Given the description of an element on the screen output the (x, y) to click on. 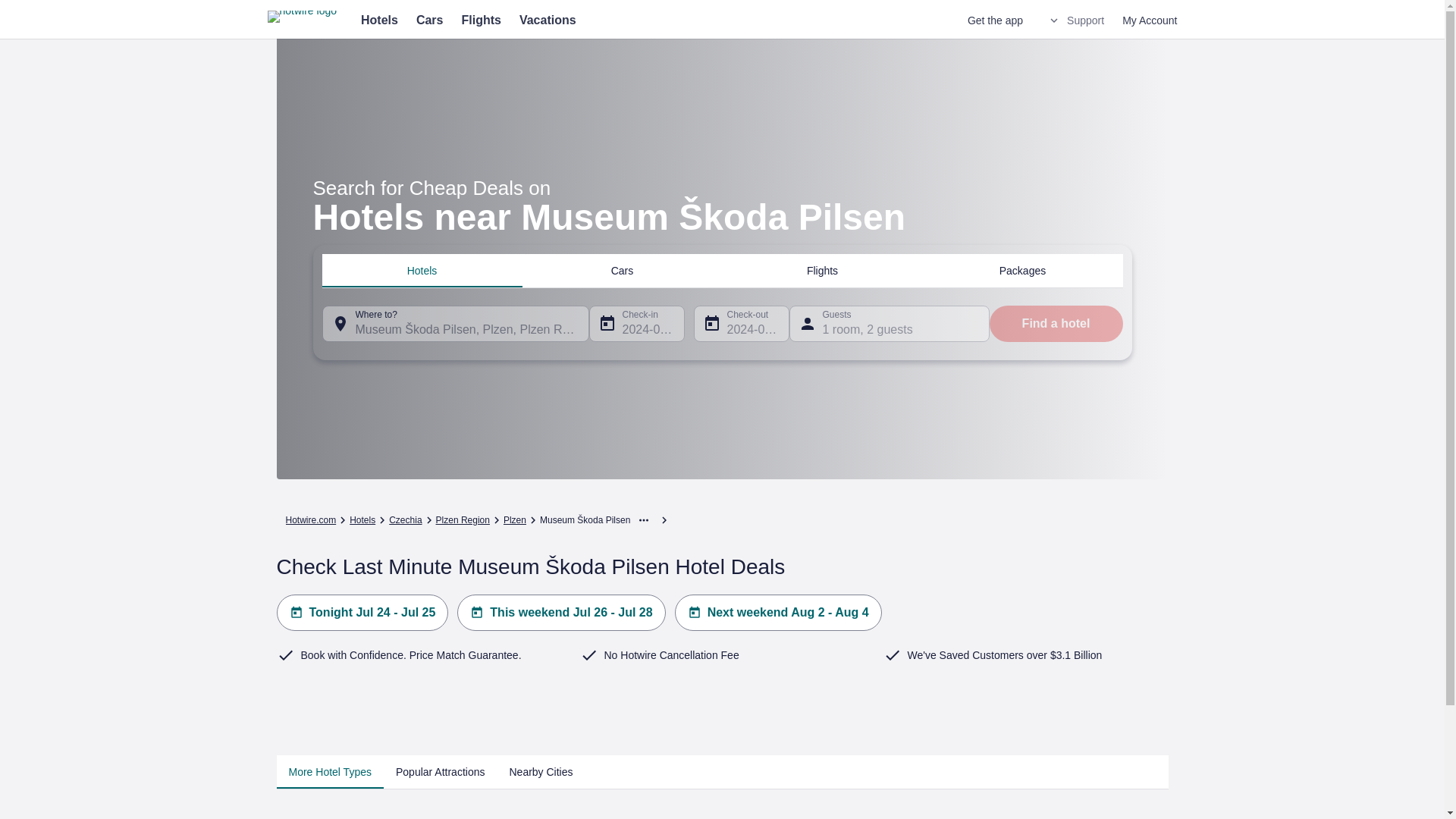
My Account (1149, 20)
1 room, 2 guests (888, 322)
Packages (1021, 269)
Tonight Jul 24 - Jul 25 (362, 612)
Hotwire.com (310, 520)
2024-07-24 (636, 322)
Cars (430, 19)
Flights (821, 269)
Plzen (514, 520)
Hotels (421, 269)
Hotels (362, 520)
This weekend Jul 26 - Jul 28 (561, 612)
